Given the description of an element on the screen output the (x, y) to click on. 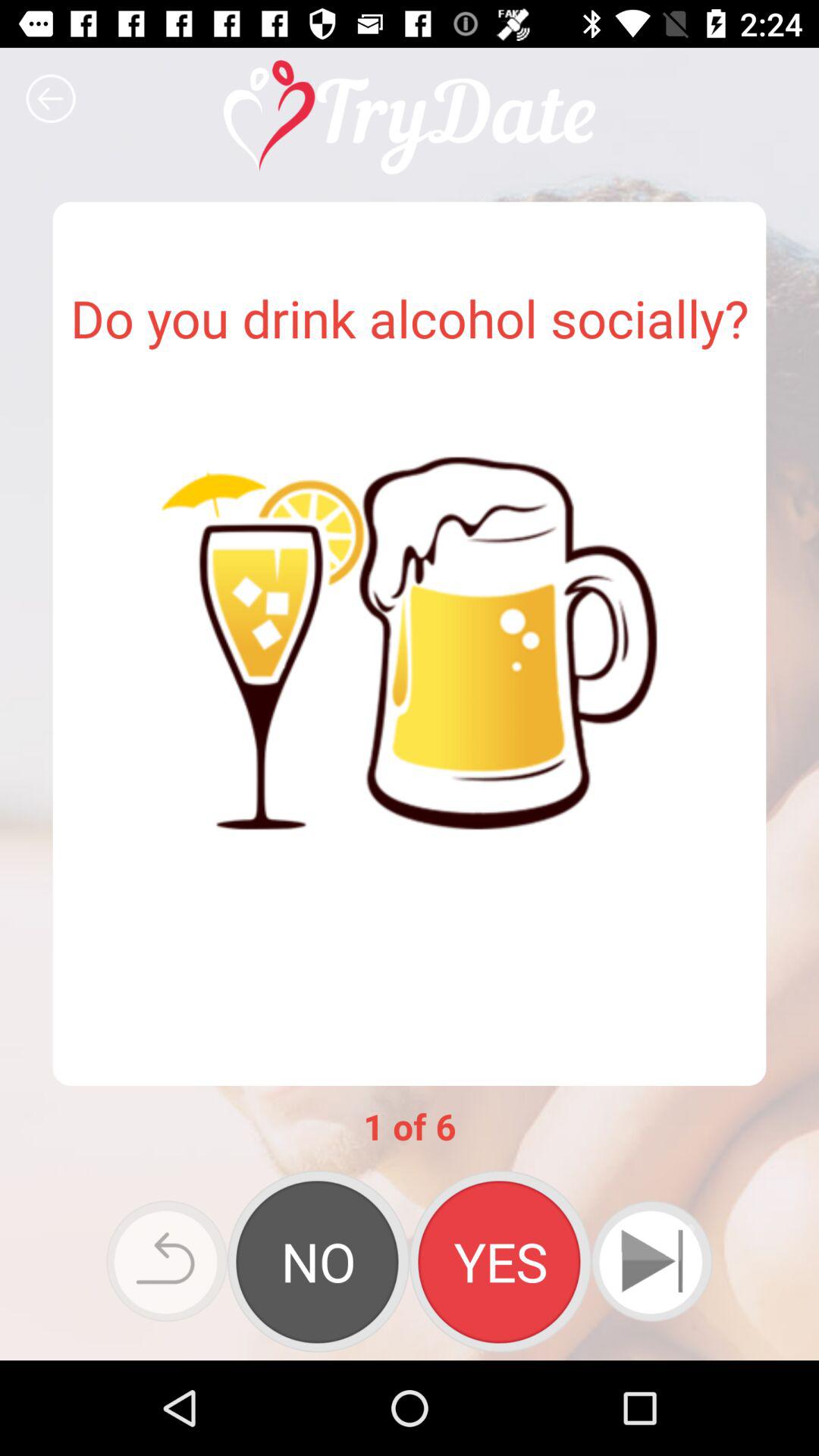
go to previous (50, 98)
